Given the description of an element on the screen output the (x, y) to click on. 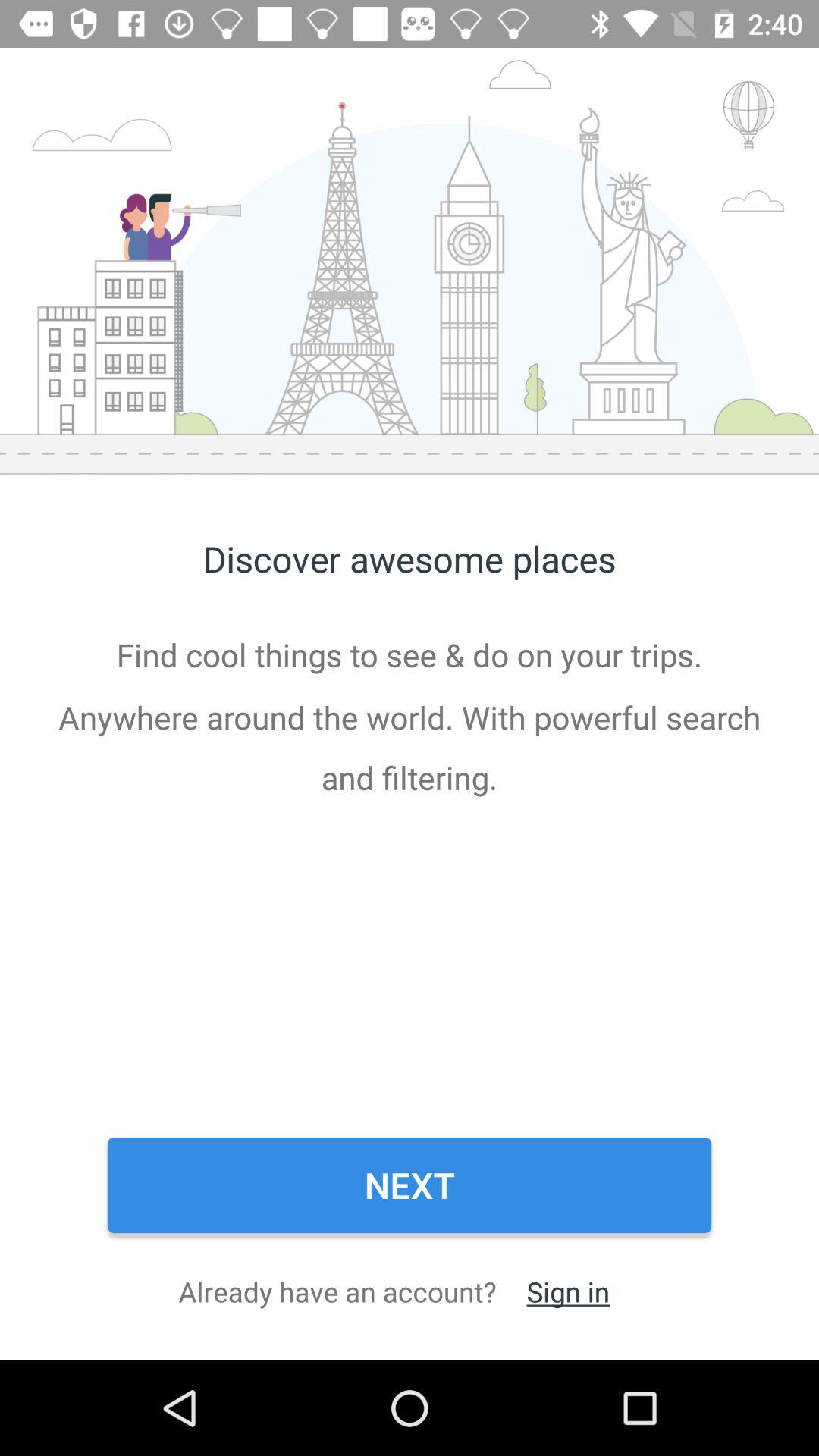
choose the item below the next item (567, 1291)
